Given the description of an element on the screen output the (x, y) to click on. 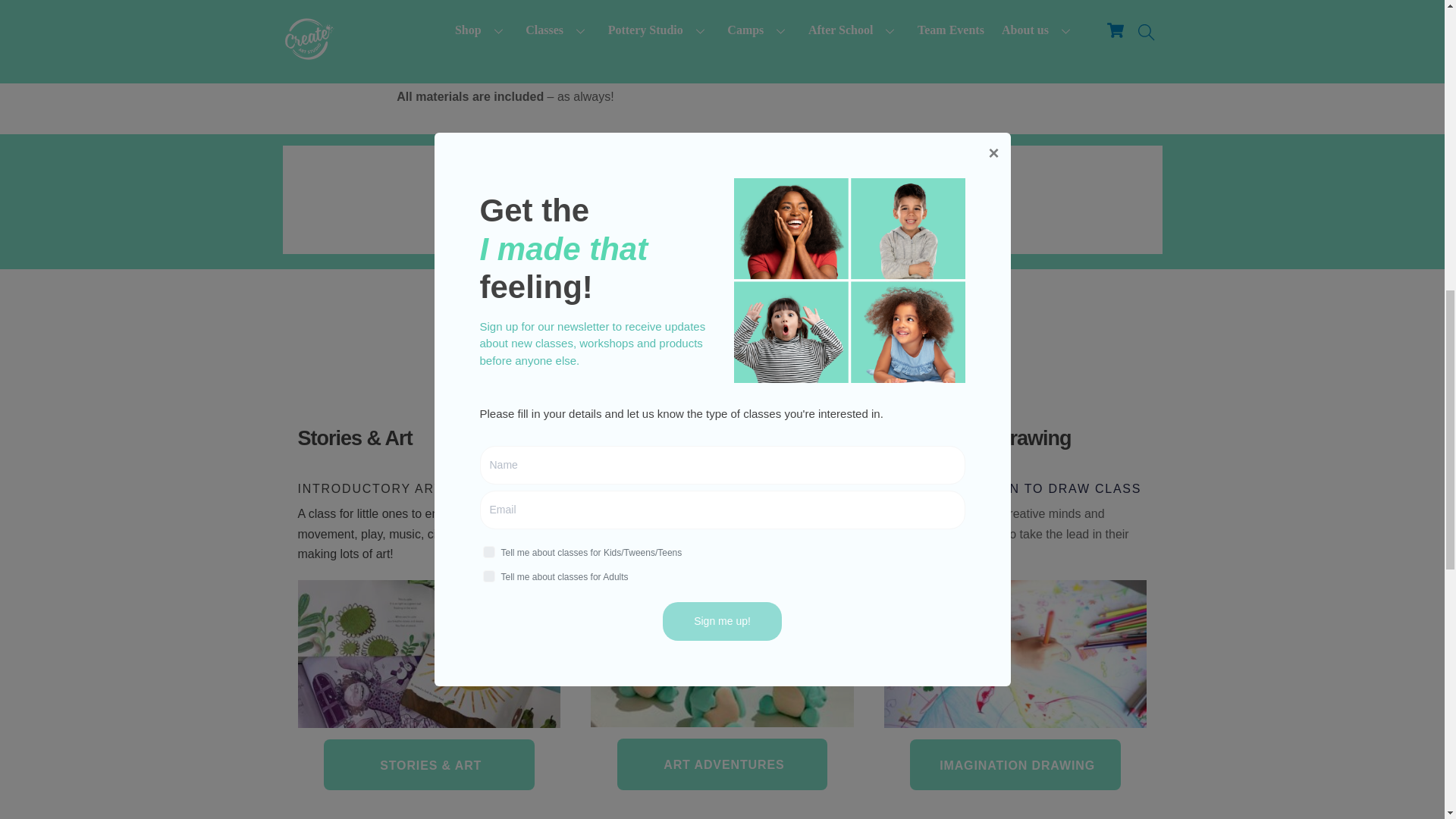
IMAGINATION DRAWING (1014, 764)
click here (802, 207)
Stories and Art Class (428, 653)
ALL CLASSES FOR YOUNG KIDS (722, 380)
Creative kids love Art Adventures! (722, 653)
Imagination Drawing classes for kids (1015, 653)
ART ADVENTURES (722, 763)
